Given the description of an element on the screen output the (x, y) to click on. 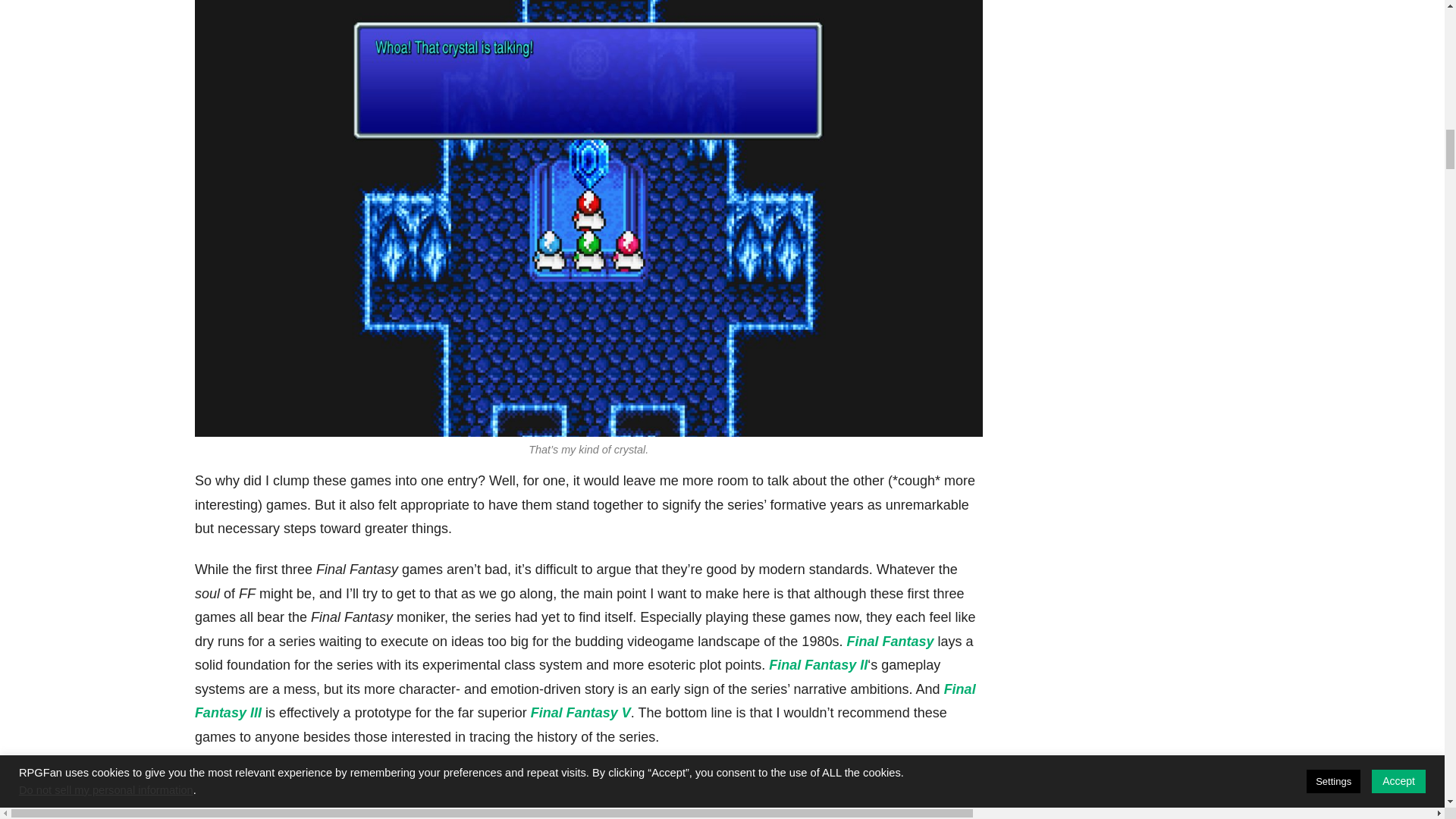
Final Fantasy XIII (351, 808)
Final Fantasy II (817, 664)
Final Fantasy V (580, 712)
Final Fantasy III (585, 701)
Final Fantasy (889, 641)
